Given the description of an element on the screen output the (x, y) to click on. 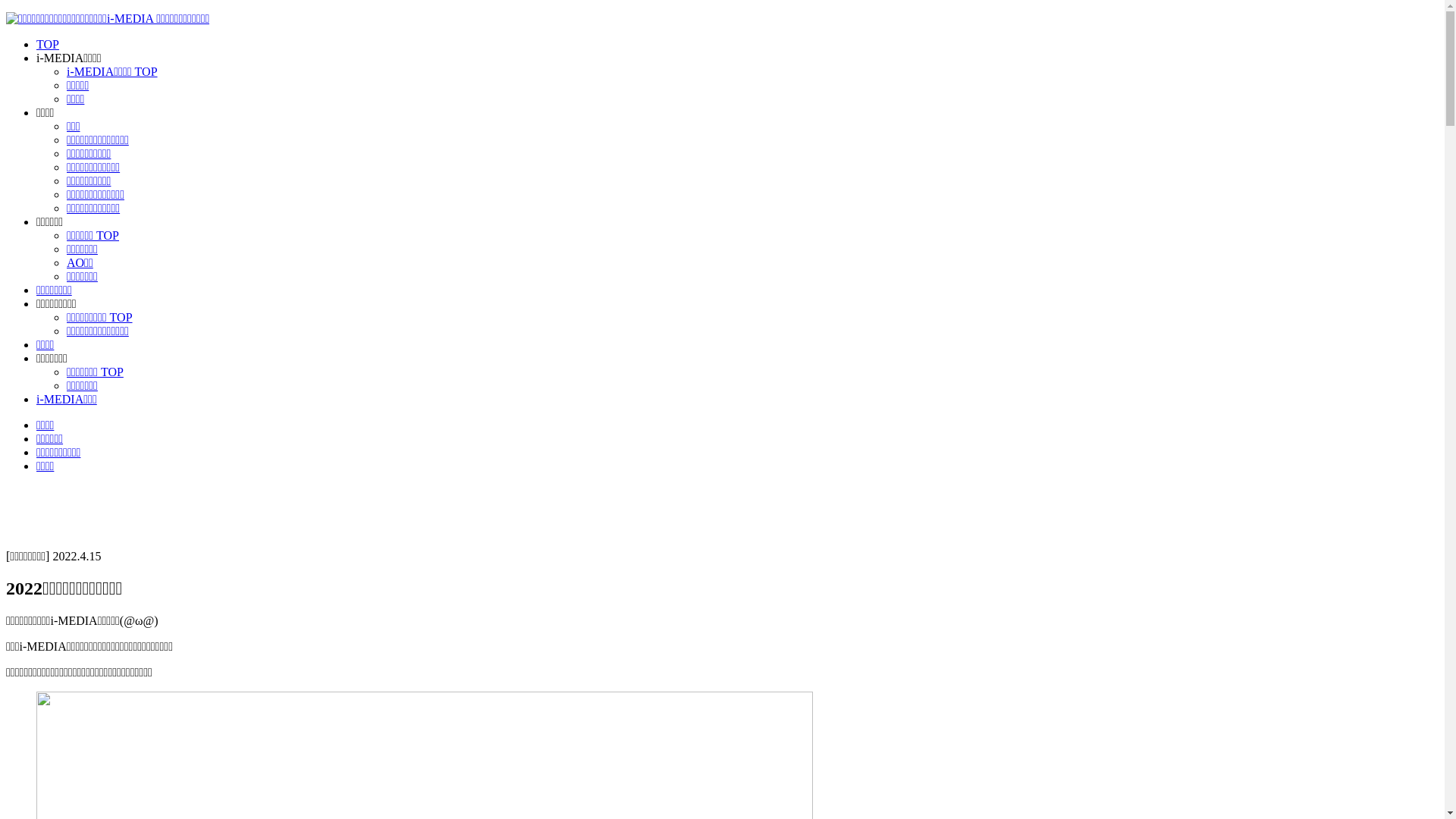
TOP Element type: text (47, 43)
